Given the description of an element on the screen output the (x, y) to click on. 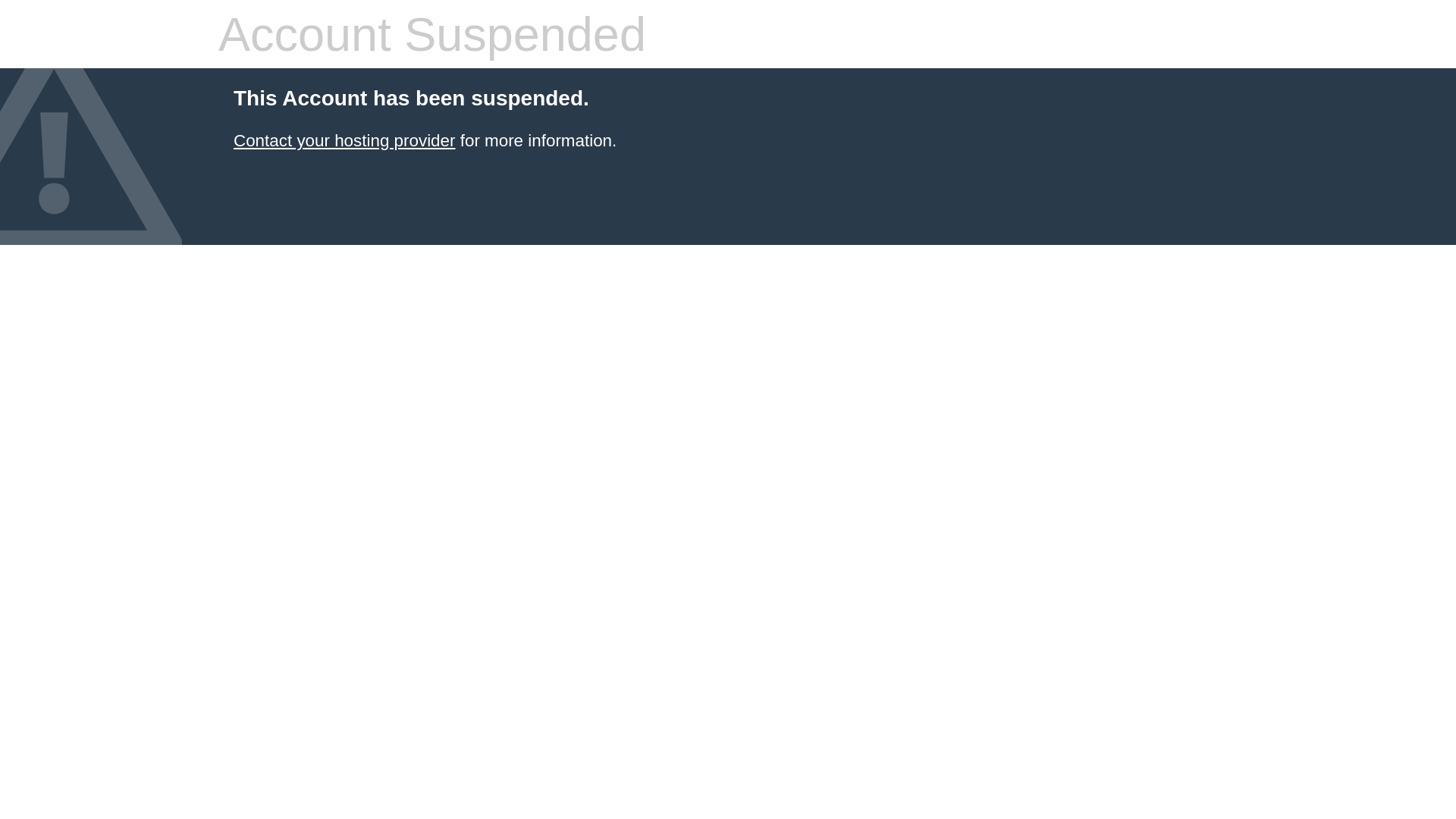
Contact your hosting provider Element type: text (344, 140)
